Given the description of an element on the screen output the (x, y) to click on. 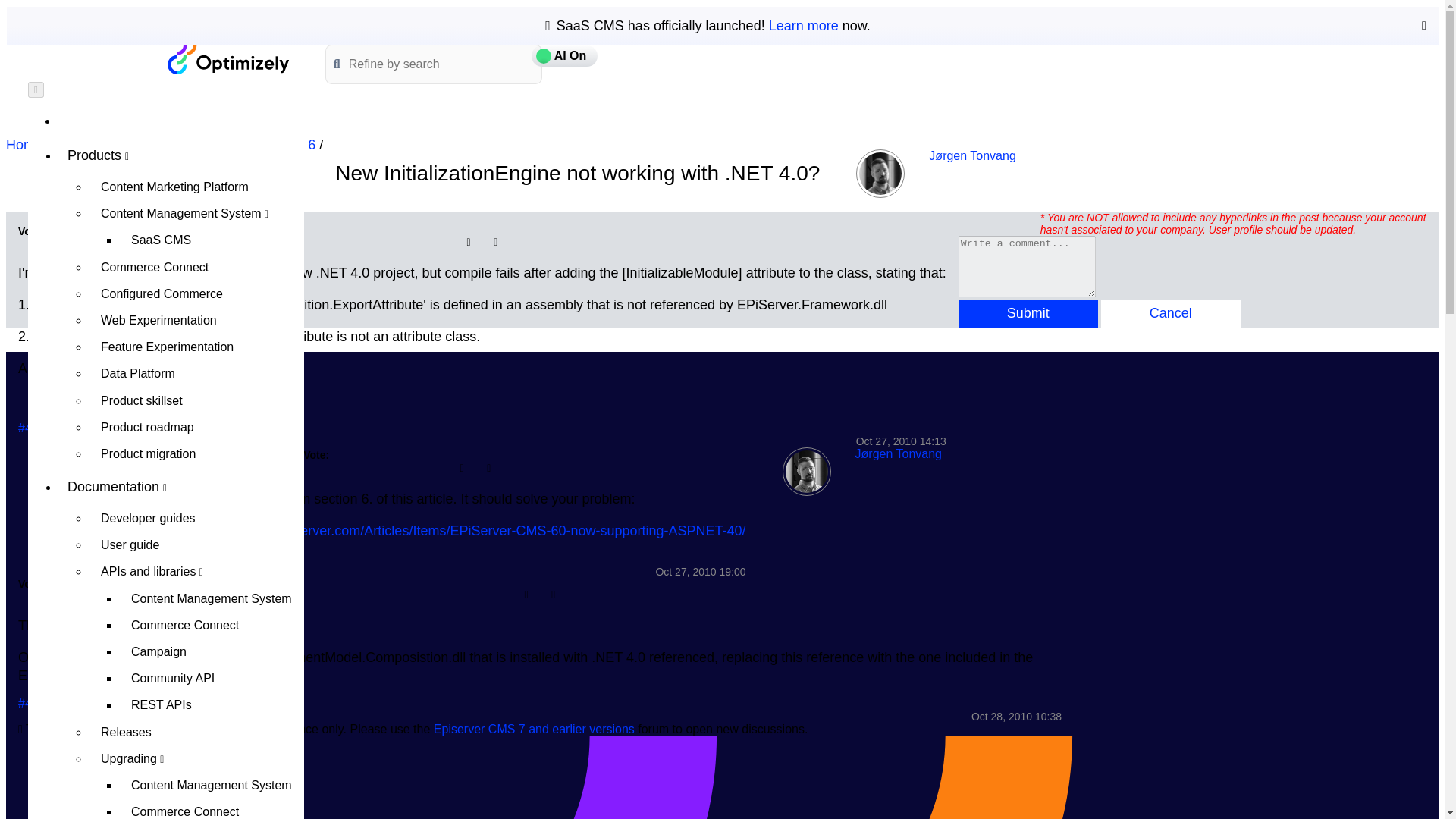
REST APIs (211, 704)
Campaign (211, 651)
APIs and libraries (196, 570)
Documentation (181, 486)
Product migration (196, 453)
Configured Commerce (196, 293)
Feature Experimentation (196, 346)
Content Marketing Platform (196, 186)
Optimizely (110, 468)
David Knipe (54, 471)
Community API (211, 678)
Web Experimentation (196, 320)
Developer guides (196, 518)
Product roadmap (196, 427)
Learn more (803, 25)
